Given the description of an element on the screen output the (x, y) to click on. 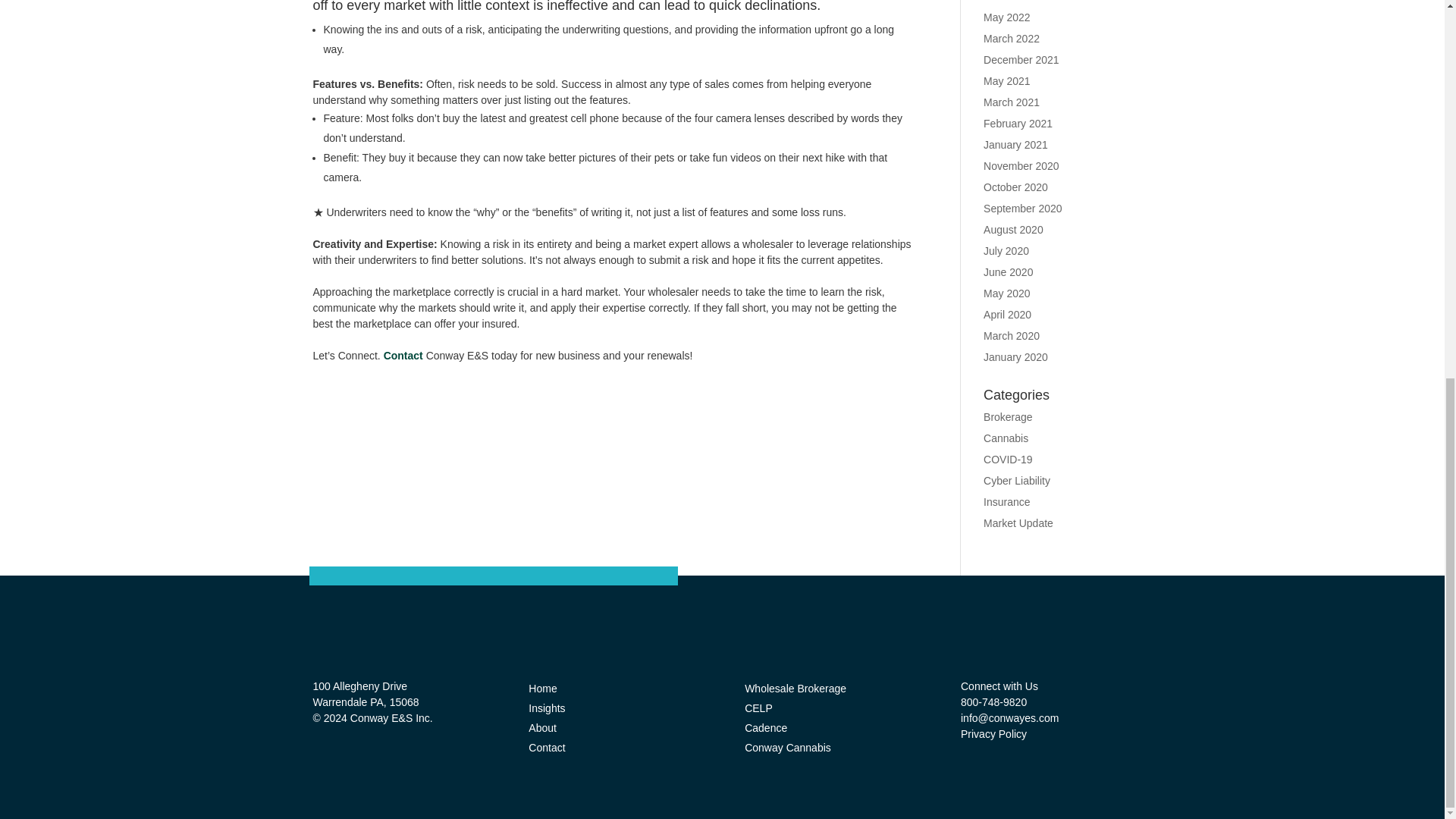
March 2022 (1011, 38)
August 2020 (1013, 229)
November 2020 (1021, 165)
May 2021 (1006, 80)
October 2020 (1016, 186)
June 2022 (1008, 1)
Contact (403, 355)
Marker 2 (493, 575)
September 2020 (1023, 208)
February 2021 (1018, 123)
January 2021 (1016, 144)
May 2022 (1006, 17)
March 2021 (1011, 102)
December 2021 (1021, 60)
